Given the description of an element on the screen output the (x, y) to click on. 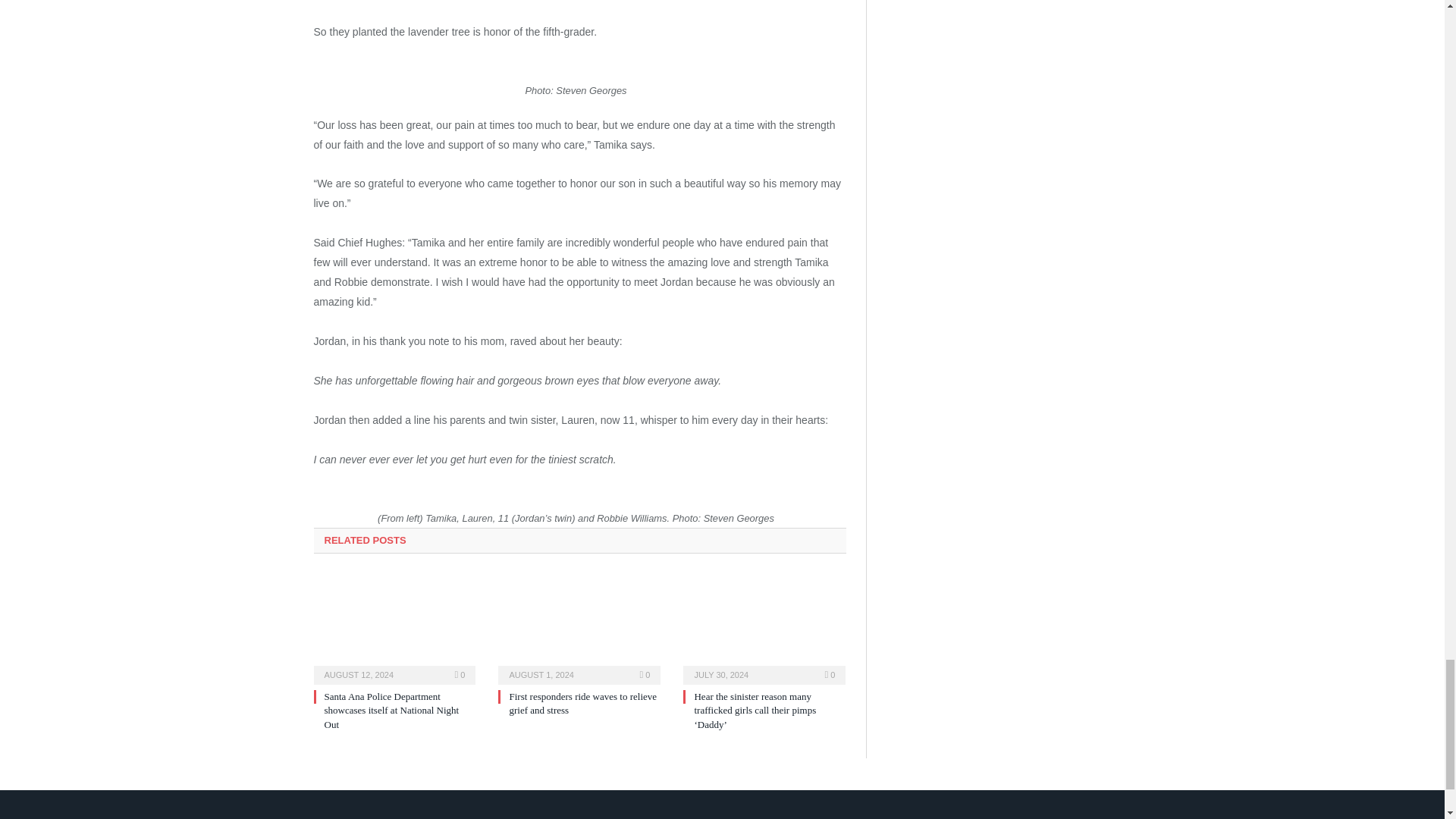
First responders ride waves to relieve grief and stress (582, 703)
0 (645, 674)
0 (830, 674)
0 (459, 674)
First responders ride waves to relieve grief and stress (582, 703)
First responders ride waves to relieve grief and stress (579, 627)
